Given the description of an element on the screen output the (x, y) to click on. 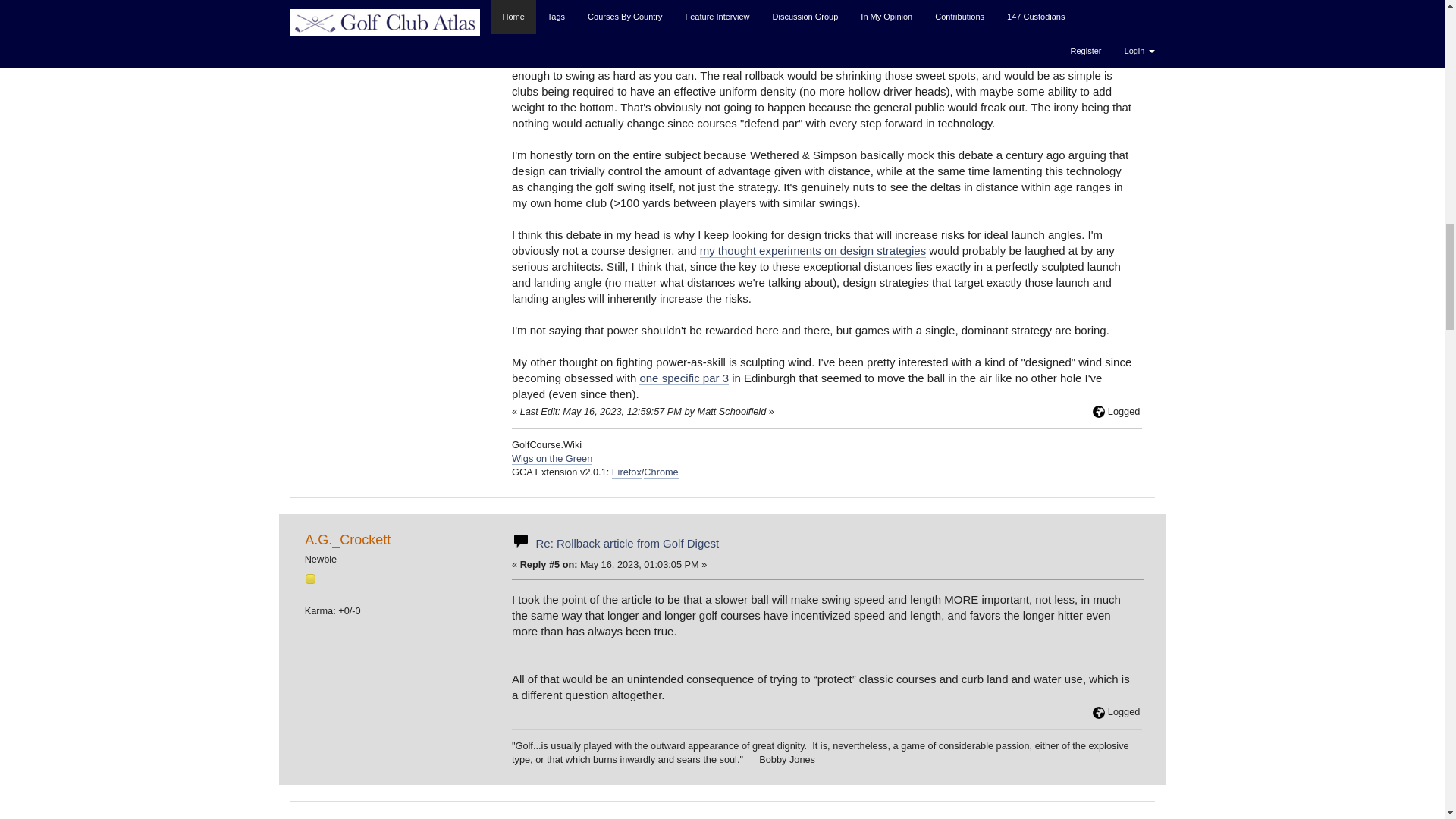
Firefox (626, 472)
Chrome (660, 472)
one specific par 3 (684, 377)
my thought experiments on design strategies (813, 250)
Wigs on the Green (552, 458)
